Given the description of an element on the screen output the (x, y) to click on. 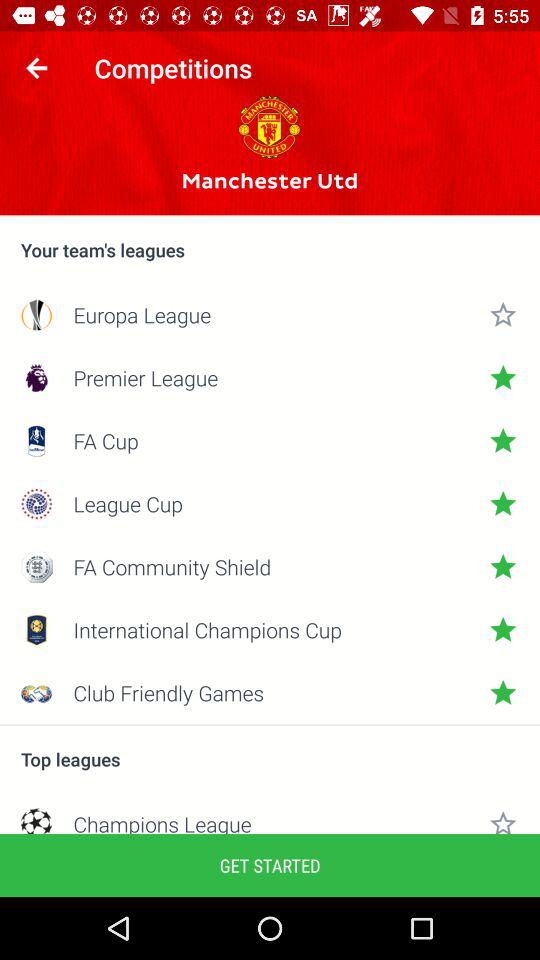
scroll to international champions cup icon (269, 629)
